Given the description of an element on the screen output the (x, y) to click on. 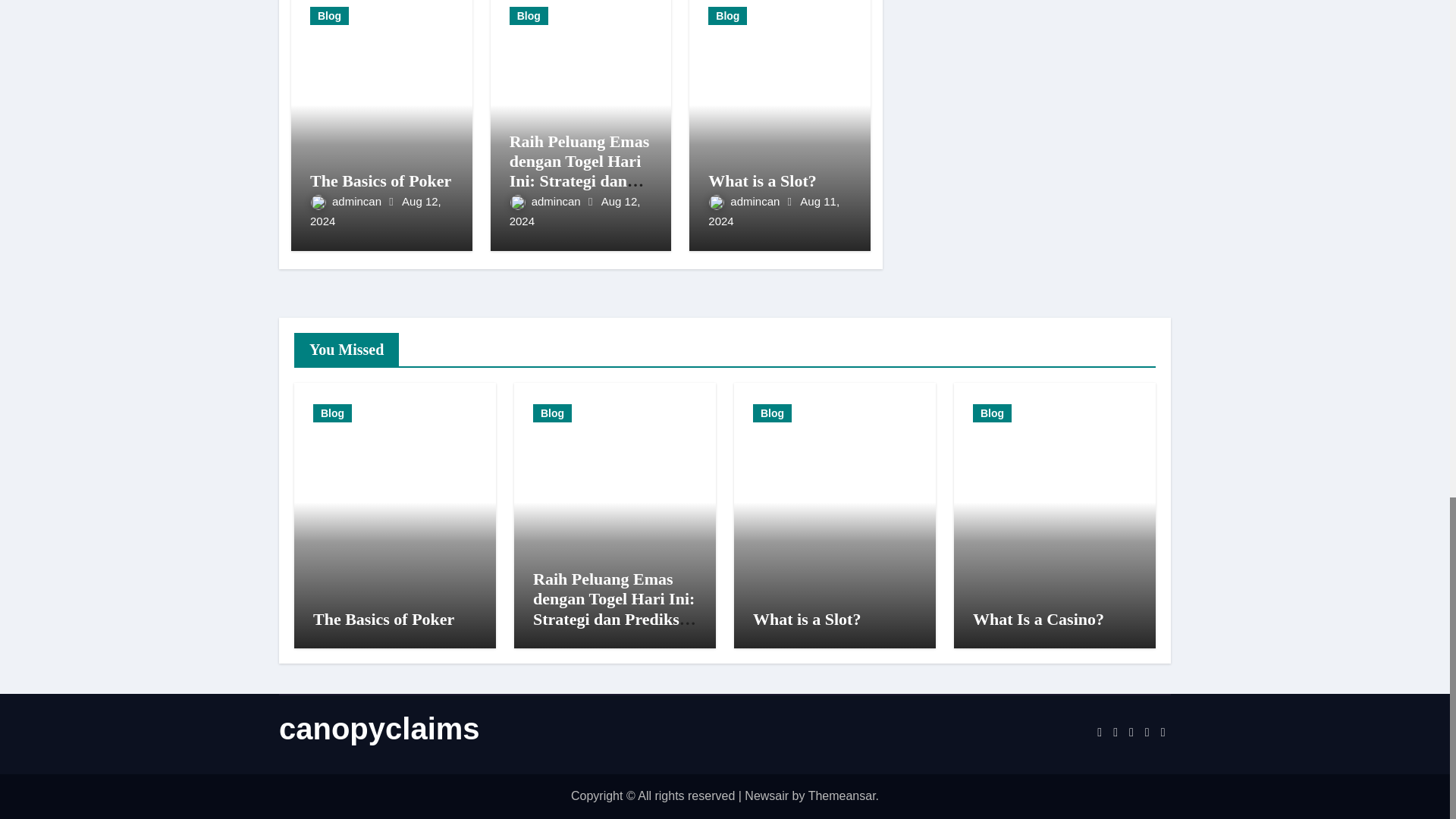
Permalink to: What is a Slot? (761, 180)
Permalink to: What is a Slot? (806, 618)
Permalink to: The Basics of Poker (380, 180)
Permalink to: The Basics of Poker (383, 618)
Permalink to: What Is a Casino? (1037, 618)
